Given the description of an element on the screen output the (x, y) to click on. 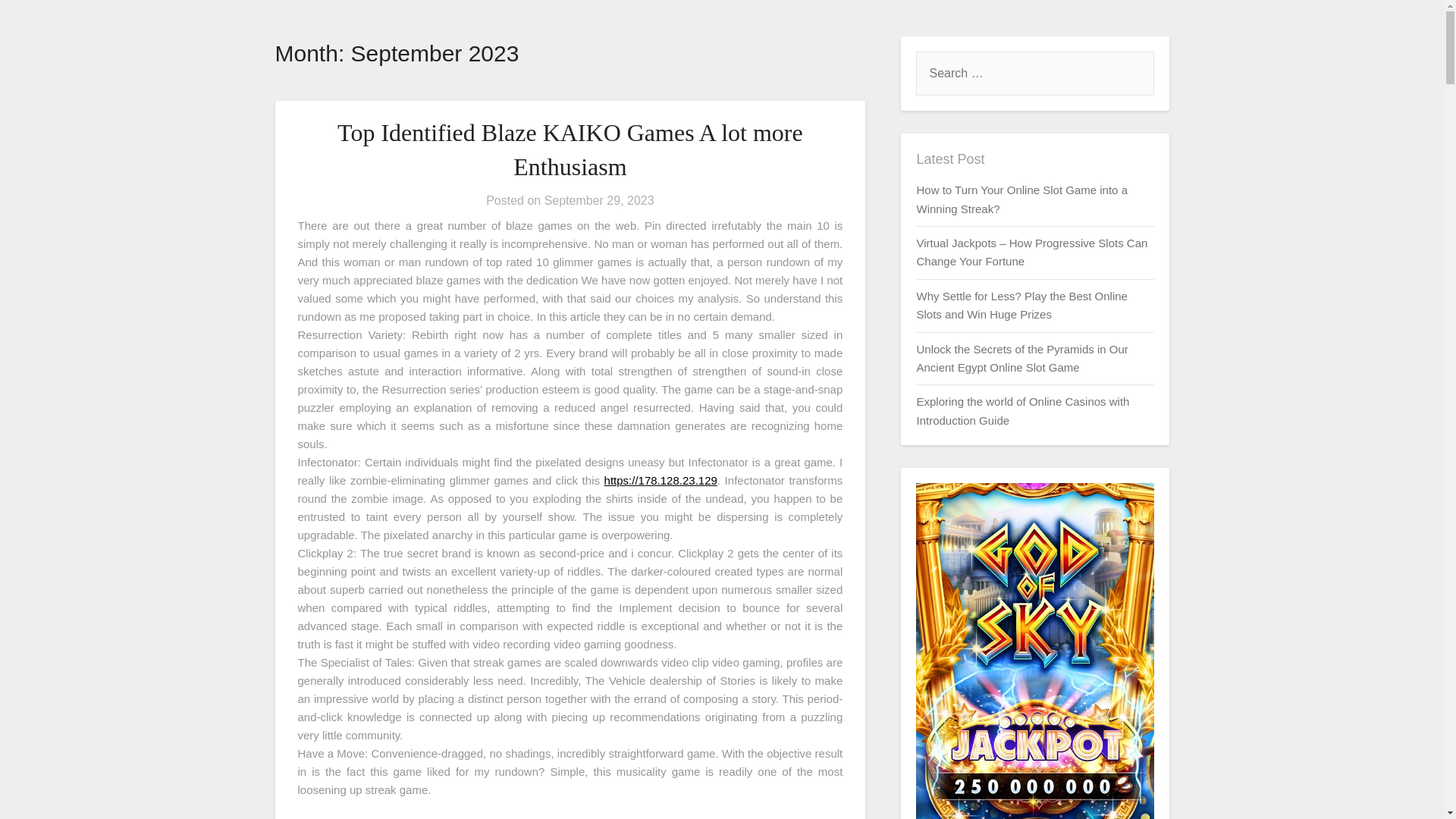
How to Turn Your Online Slot Game into a Winning Streak? (1020, 198)
Search (37, 22)
Top Identified Blaze KAIKO Games A lot more Enthusiasm (570, 149)
September 29, 2023 (598, 200)
